Given the description of an element on the screen output the (x, y) to click on. 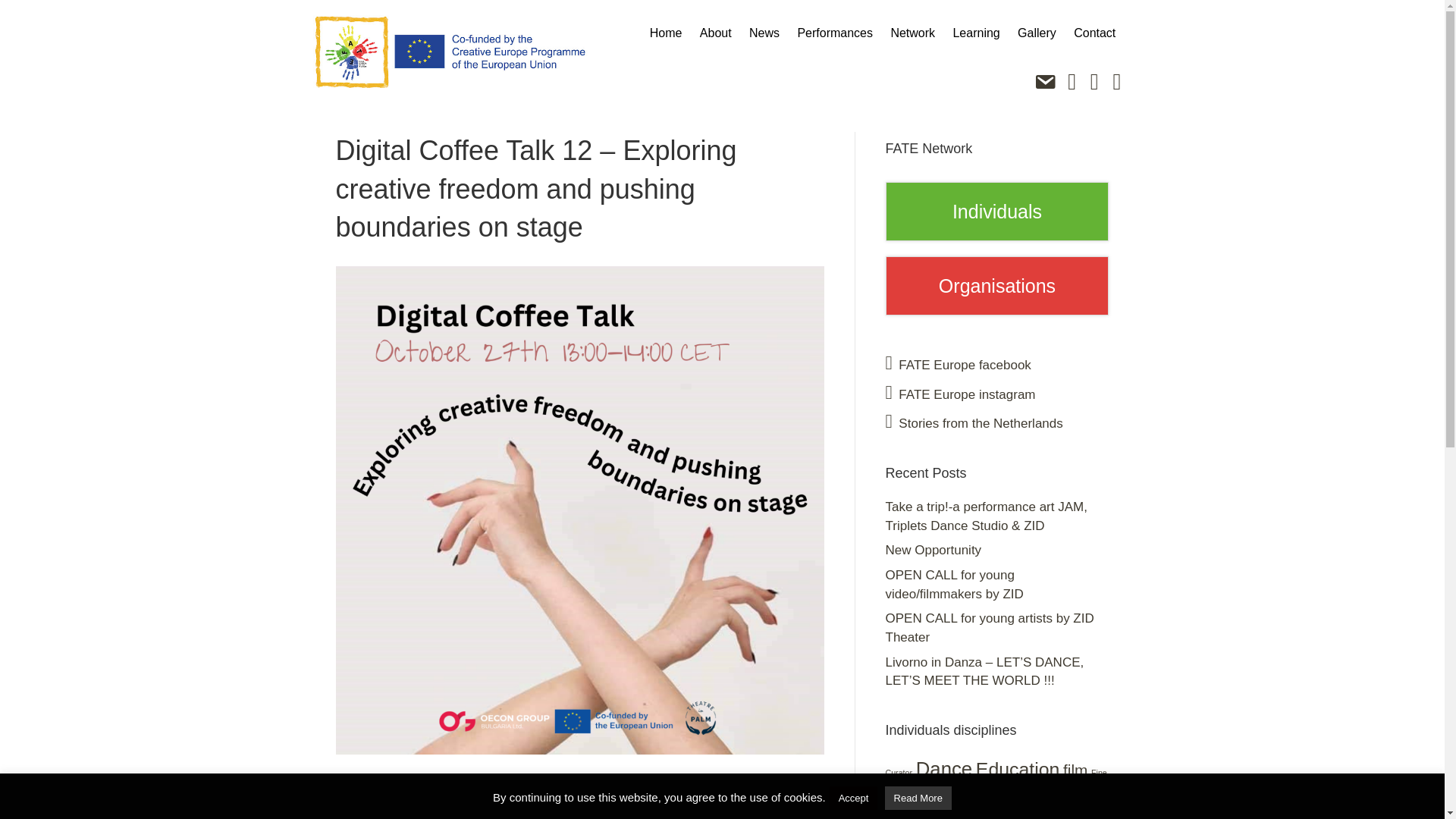
Contact (1094, 32)
Dance (943, 768)
Gallery (1036, 32)
film (1074, 769)
Individuals (997, 211)
Home (666, 32)
Network (912, 32)
About (715, 32)
Education (1017, 769)
Performances (834, 32)
